Given the description of an element on the screen output the (x, y) to click on. 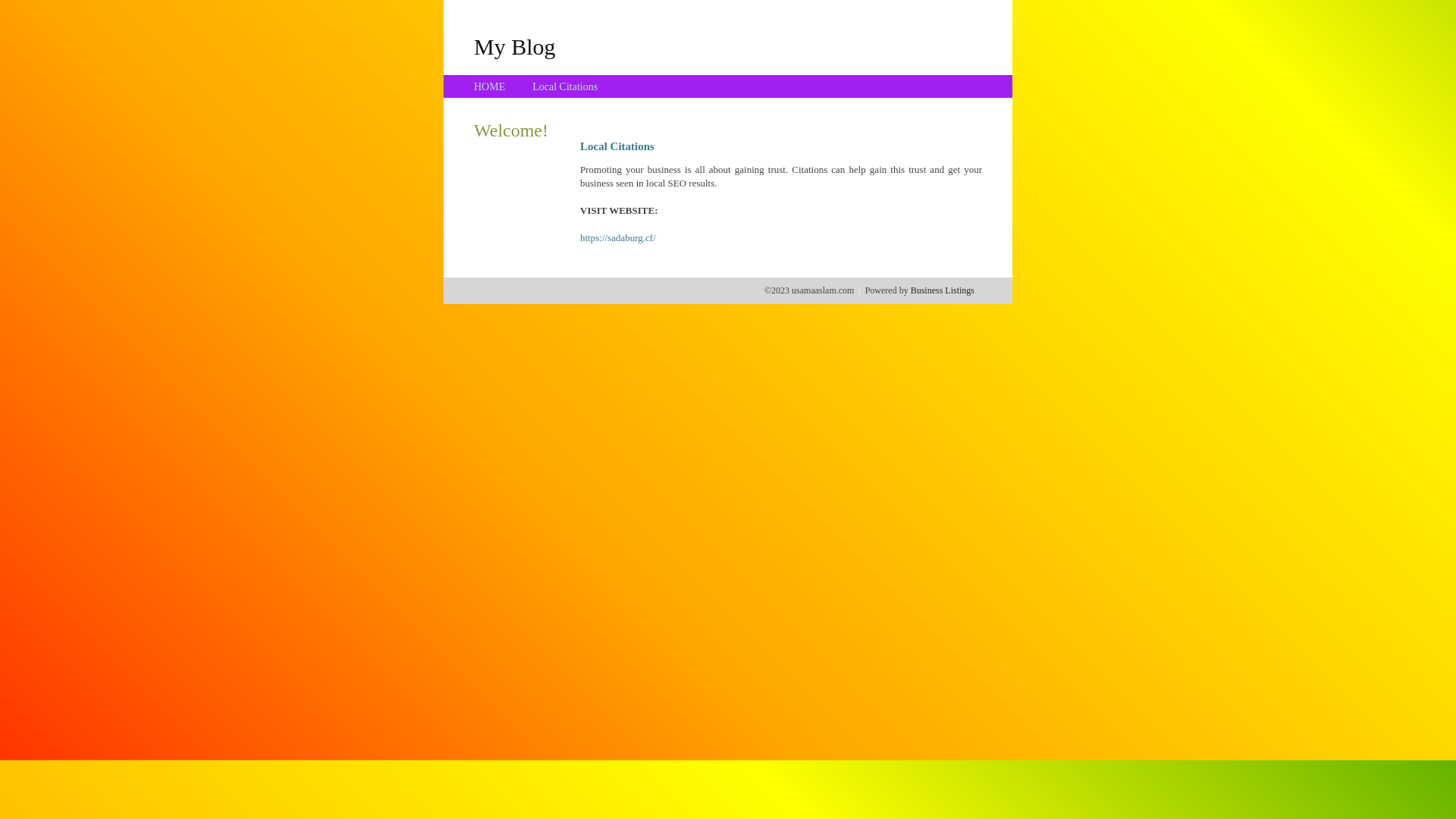
Business Listings Element type: text (942, 290)
https://sadaburg.cf/ Element type: text (617, 237)
HOME Element type: text (489, 86)
Local Citations Element type: text (564, 86)
My Blog Element type: text (514, 46)
